Given the description of an element on the screen output the (x, y) to click on. 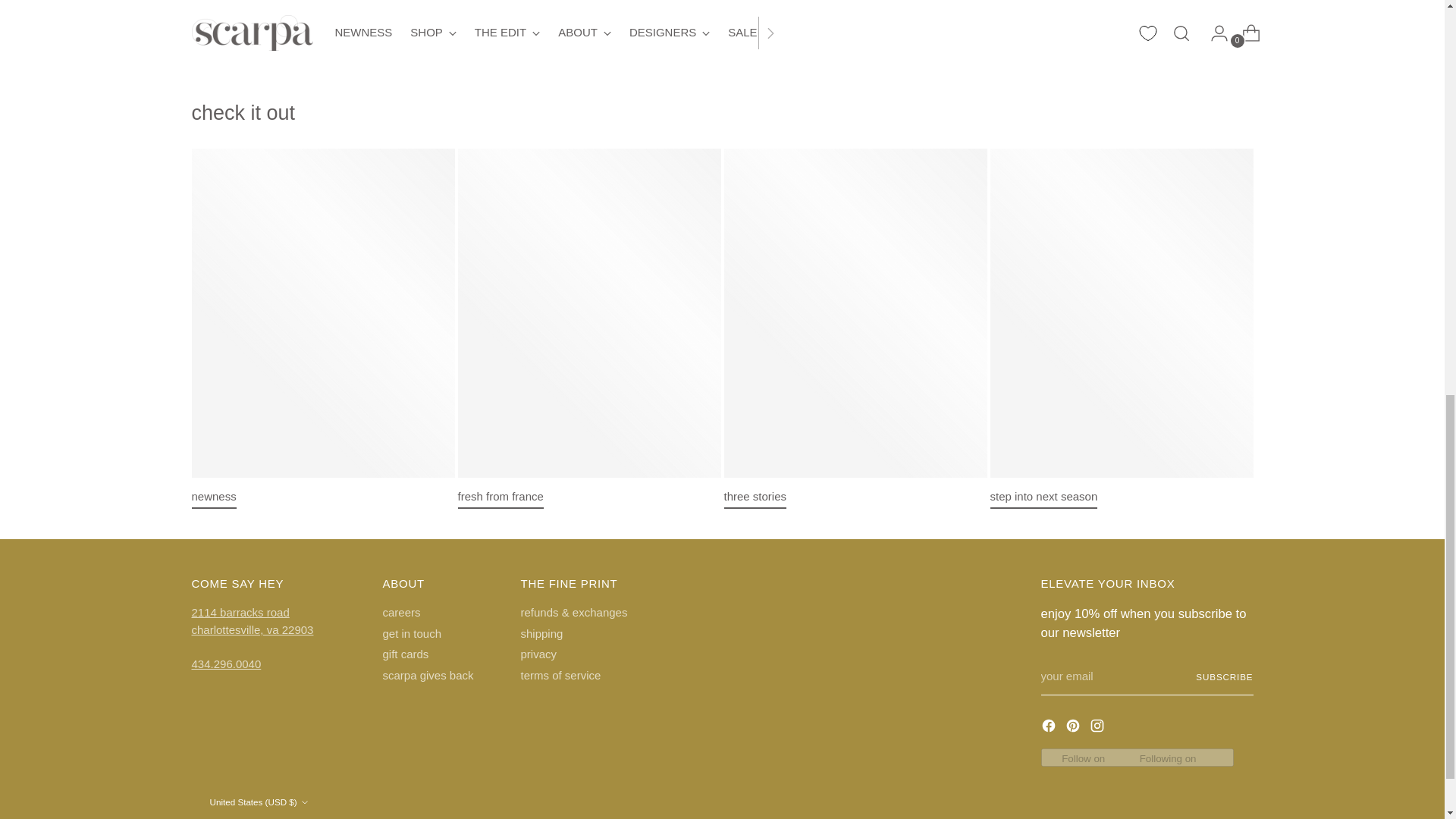
scarpa on Pinterest (1073, 728)
